Given the description of an element on the screen output the (x, y) to click on. 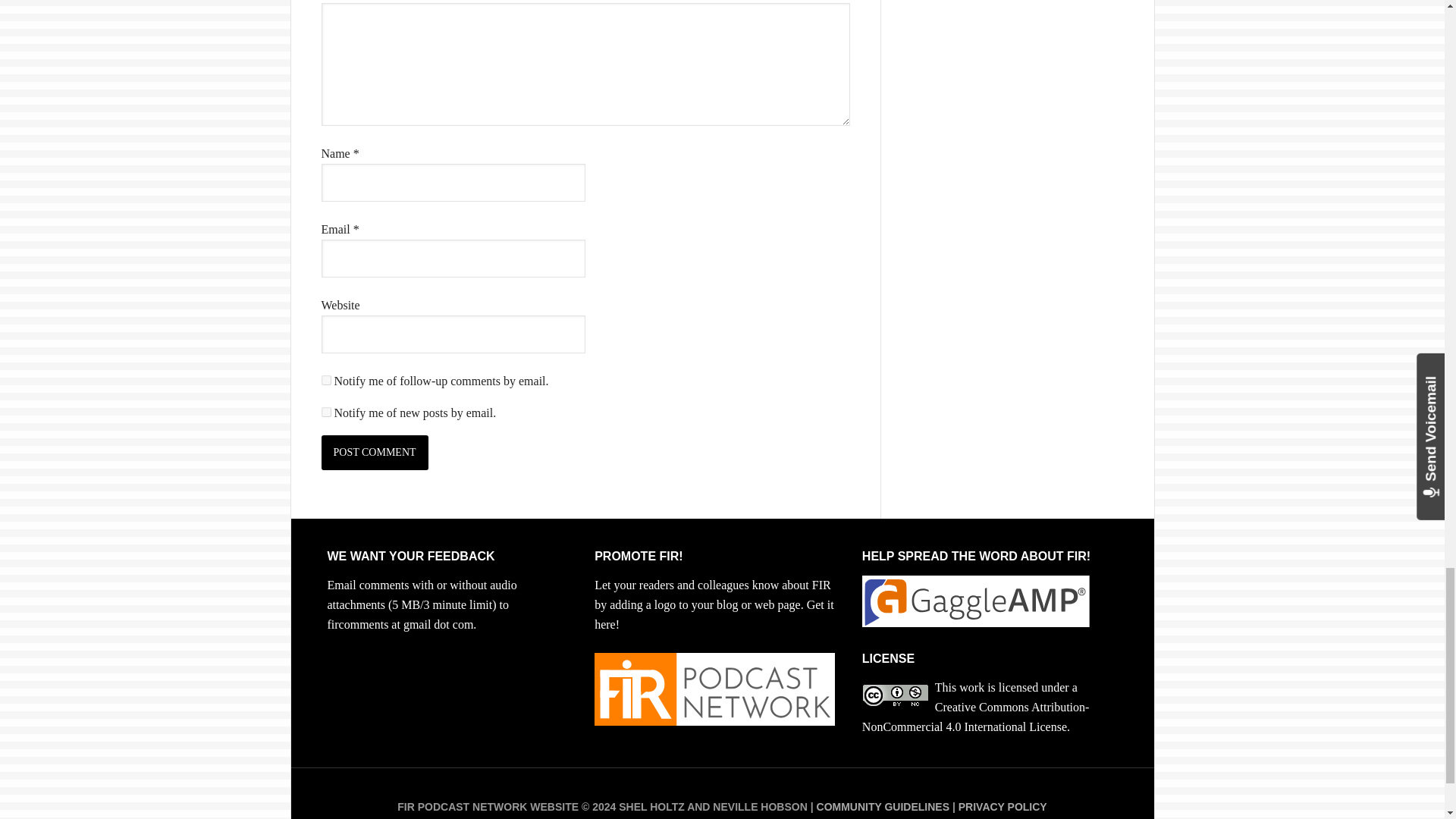
subscribe (326, 379)
Post Comment (374, 452)
subscribe (326, 411)
